Given the description of an element on the screen output the (x, y) to click on. 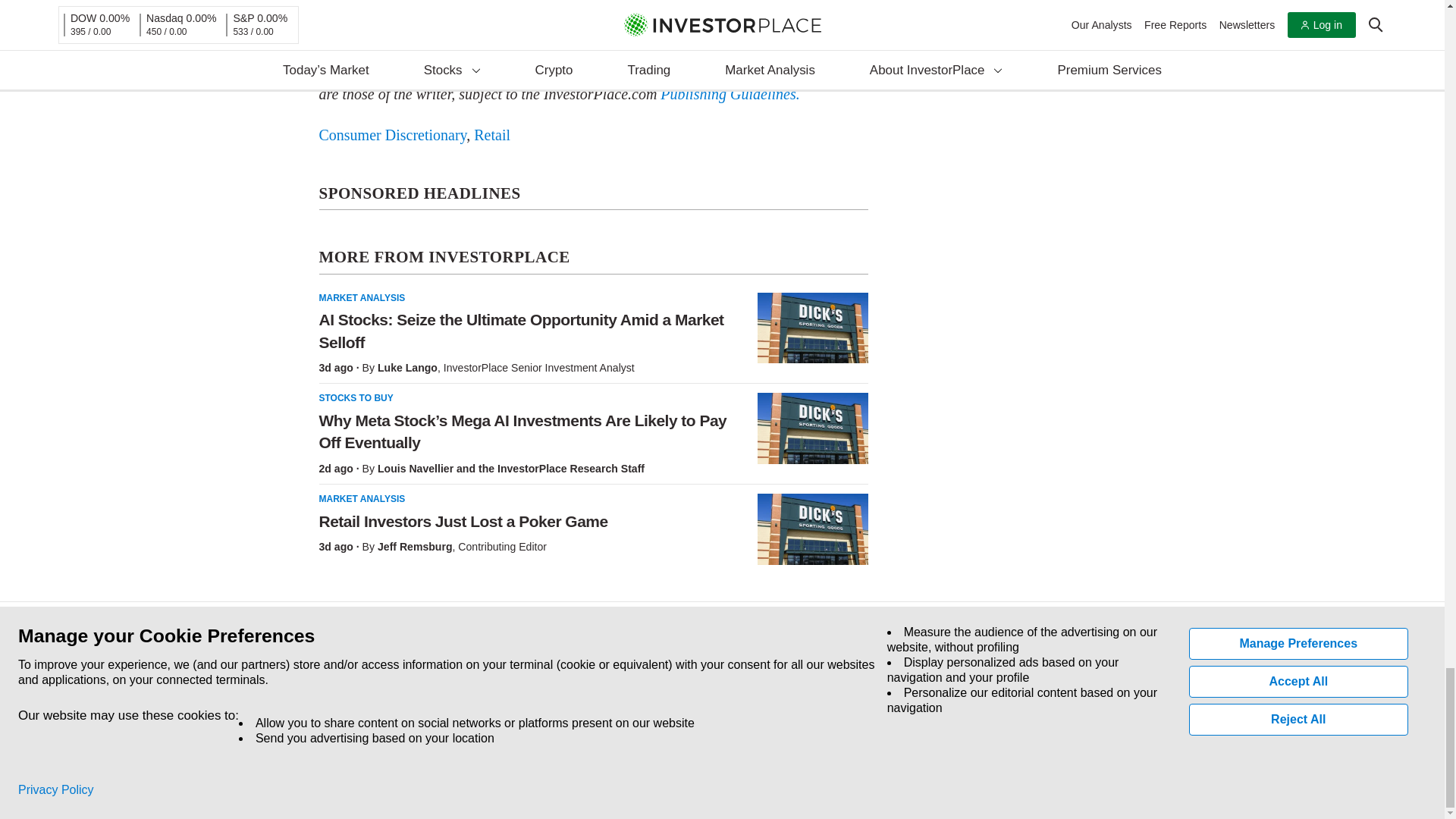
Visit our Facebook Page (319, 711)
Retail Investors Just Lost a Poker Game (812, 529)
View profile of Jeff Remsburg (414, 546)
View profile of Luke Lango (407, 367)
Subscribe to our RSS feed (389, 711)
Articles from Retail industry (492, 134)
Visit our Twitter page (354, 711)
Articles from Consumer Discretionary industry (391, 134)
